Given the description of an element on the screen output the (x, y) to click on. 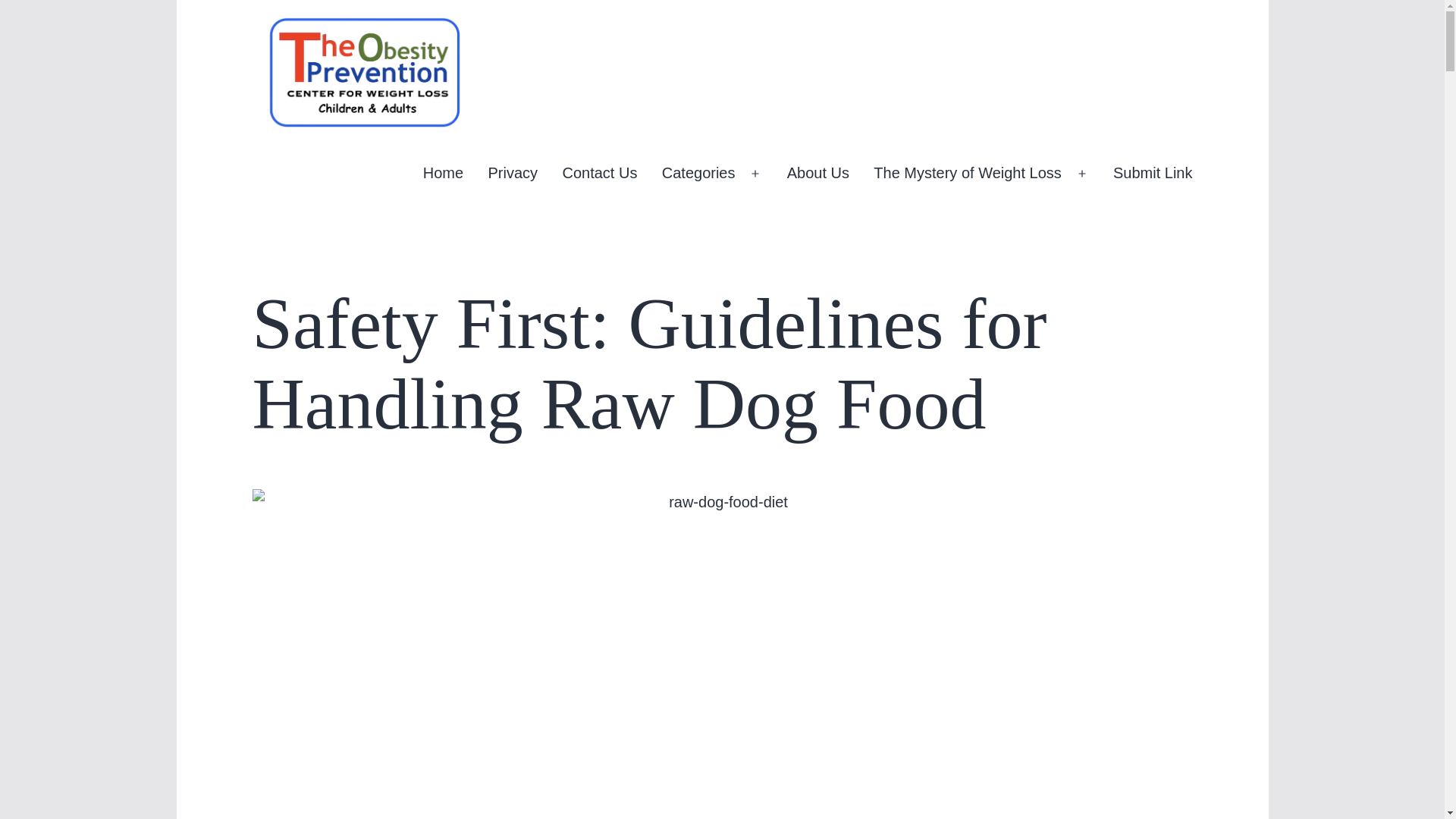
The Mystery of Weight Loss (967, 173)
Contact Us (598, 173)
Home (443, 173)
Categories (698, 173)
About Us (817, 173)
Privacy (512, 173)
Submit Link (1152, 173)
